Given the description of an element on the screen output the (x, y) to click on. 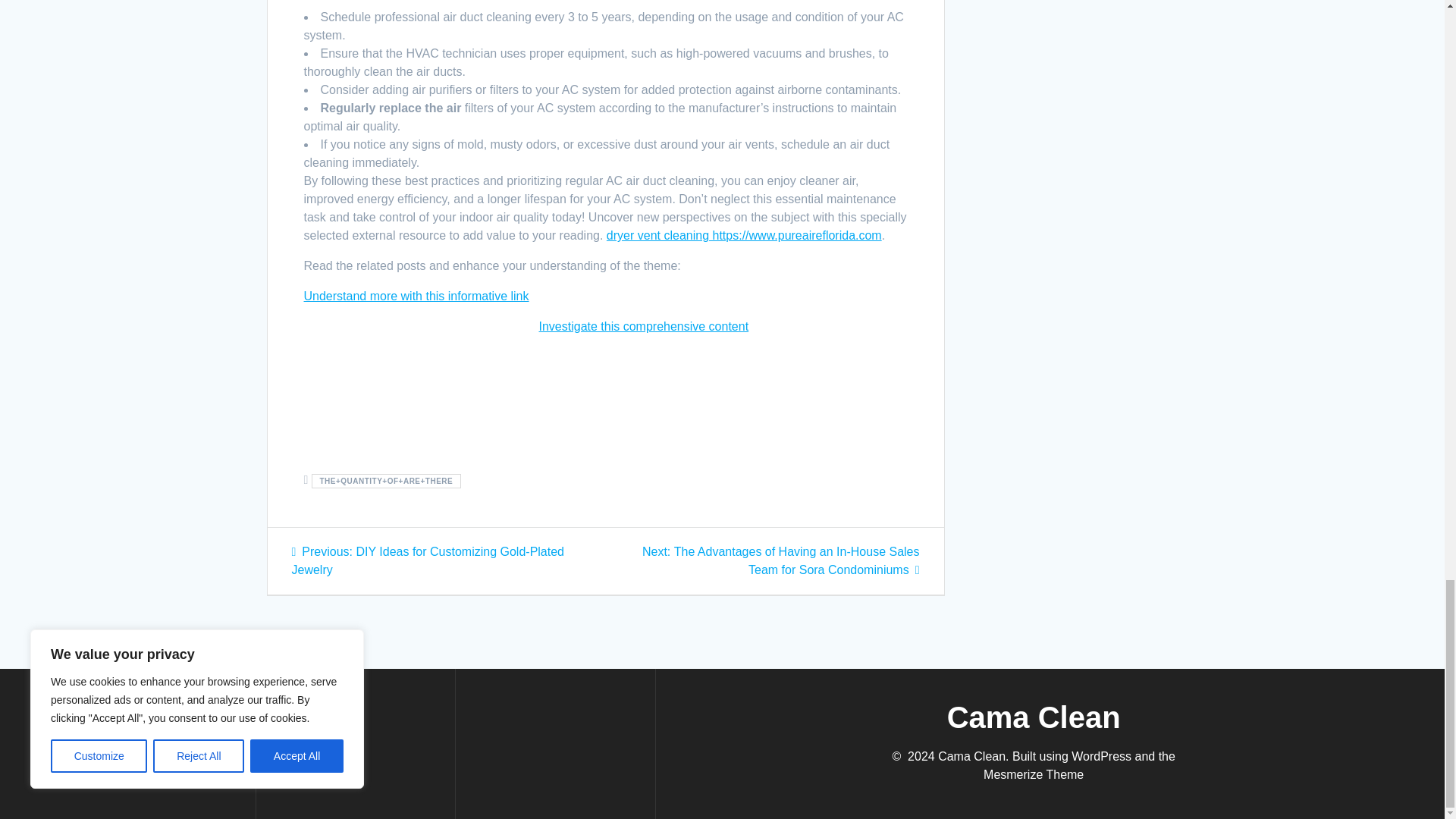
Understand more with this informative link (415, 295)
Investigate this comprehensive content (643, 326)
